Given the description of an element on the screen output the (x, y) to click on. 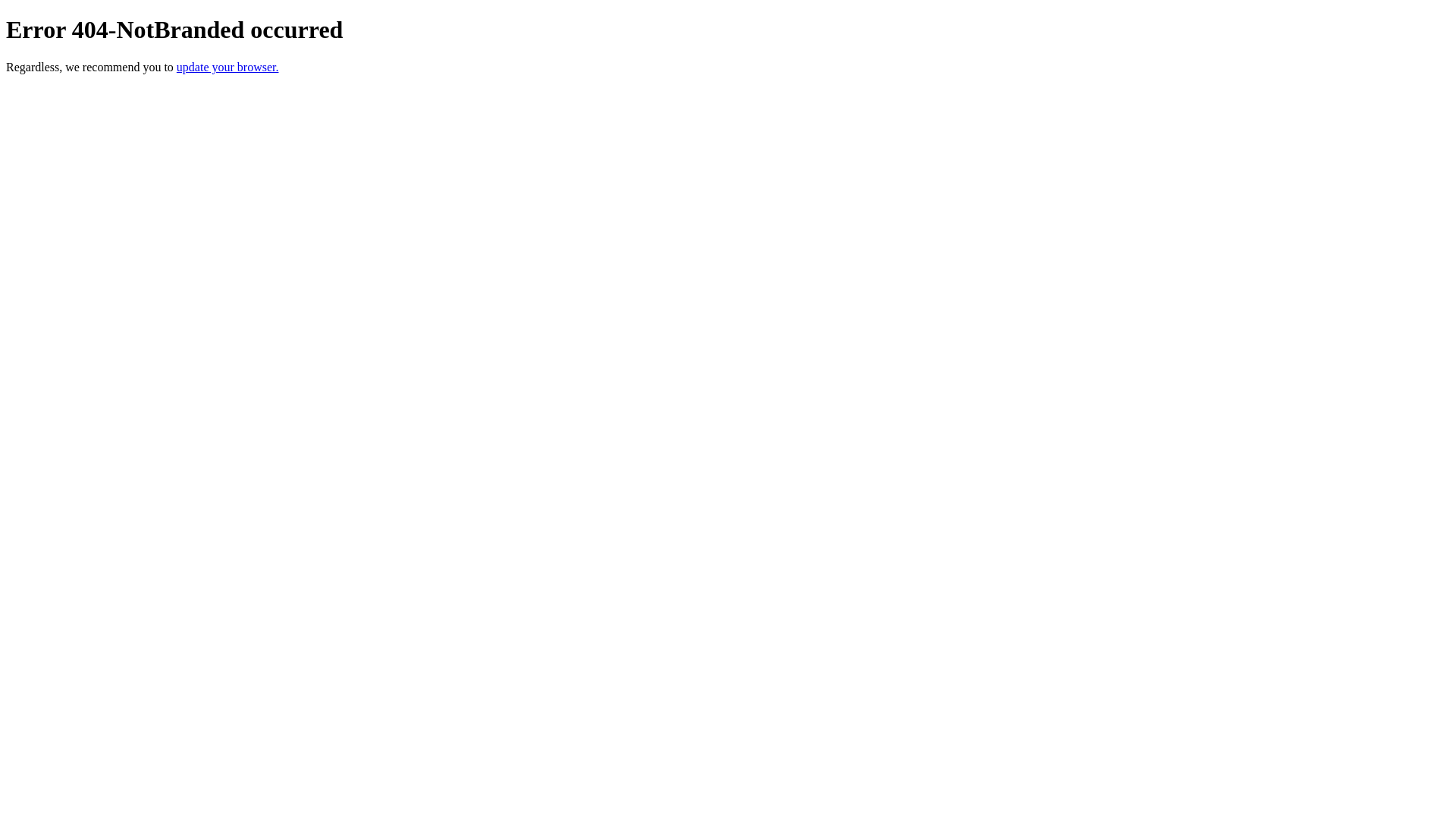
update your browser. Element type: text (227, 66)
